Given the description of an element on the screen output the (x, y) to click on. 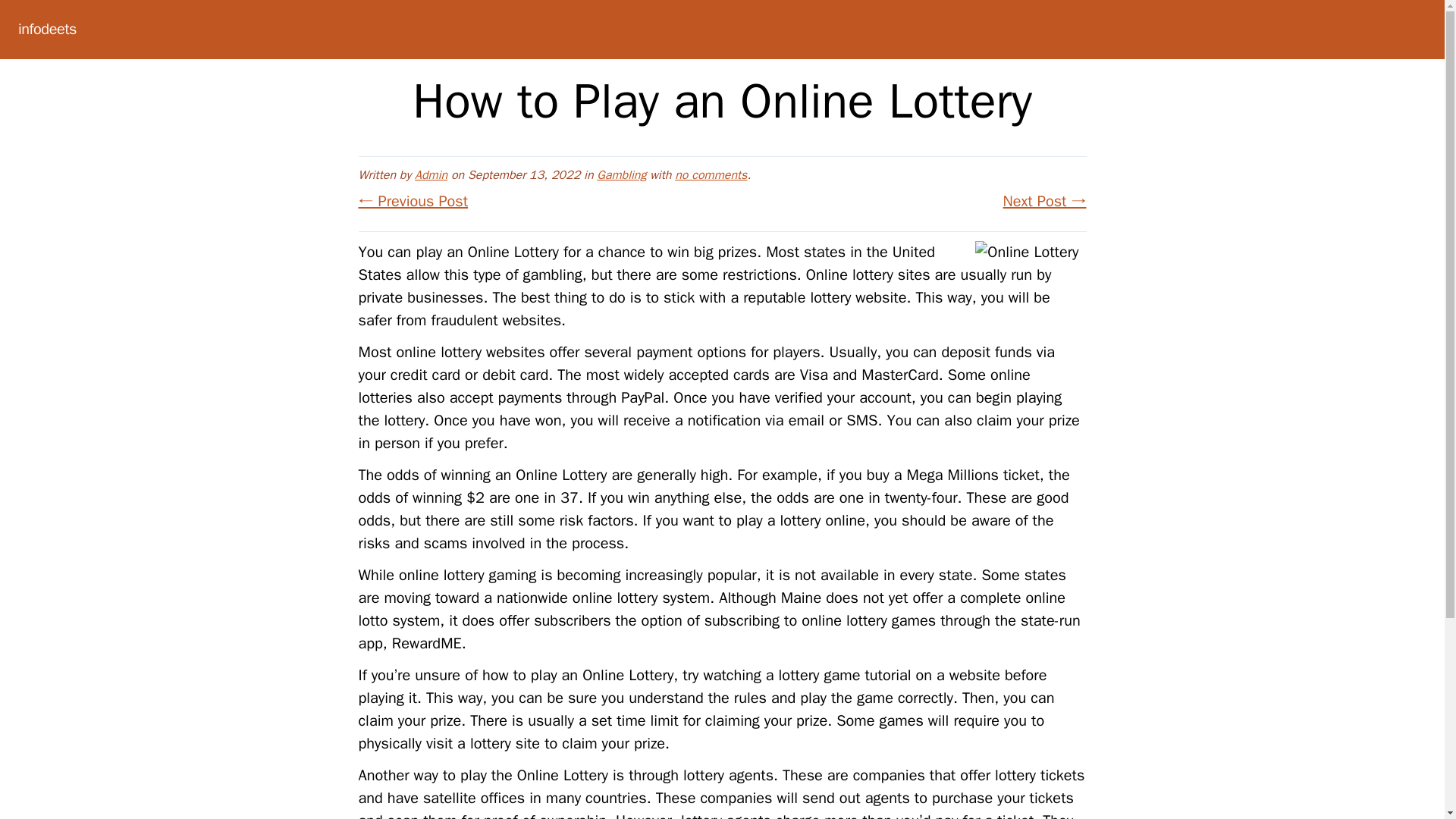
Admin (430, 174)
no comments (710, 174)
Gambling (621, 174)
no comments (710, 174)
infodeets (47, 29)
